Given the description of an element on the screen output the (x, y) to click on. 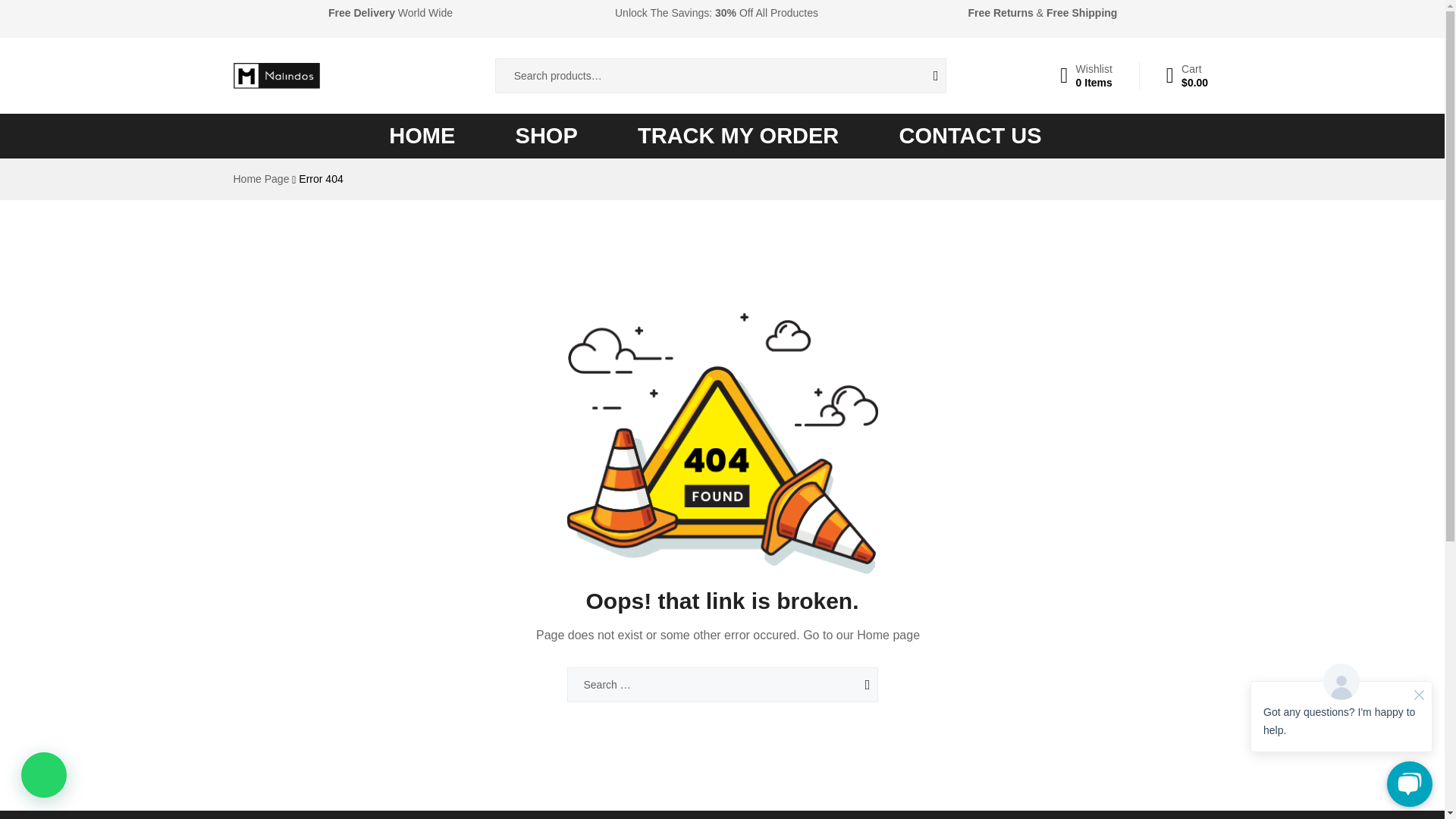
Home page (888, 634)
TRACK MY ORDER (1085, 75)
Search (737, 135)
SHOP (846, 684)
View your shopping cart (546, 135)
Home Page (1187, 75)
HOME (260, 178)
CONTACT US (422, 135)
Search (970, 135)
Search (846, 684)
Search (923, 75)
